Given the description of an element on the screen output the (x, y) to click on. 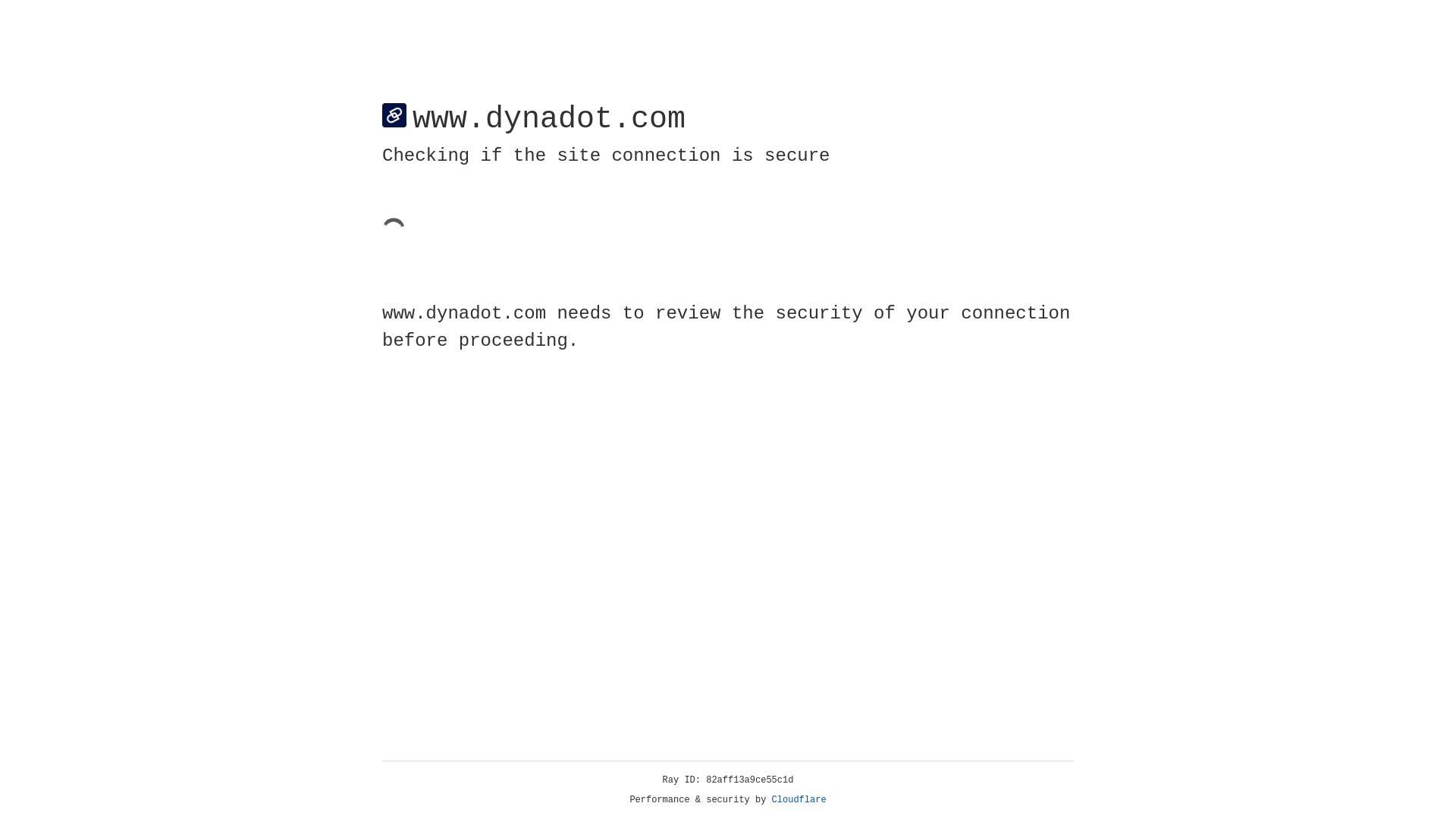
Cloudflare Element type: text (798, 799)
